Given the description of an element on the screen output the (x, y) to click on. 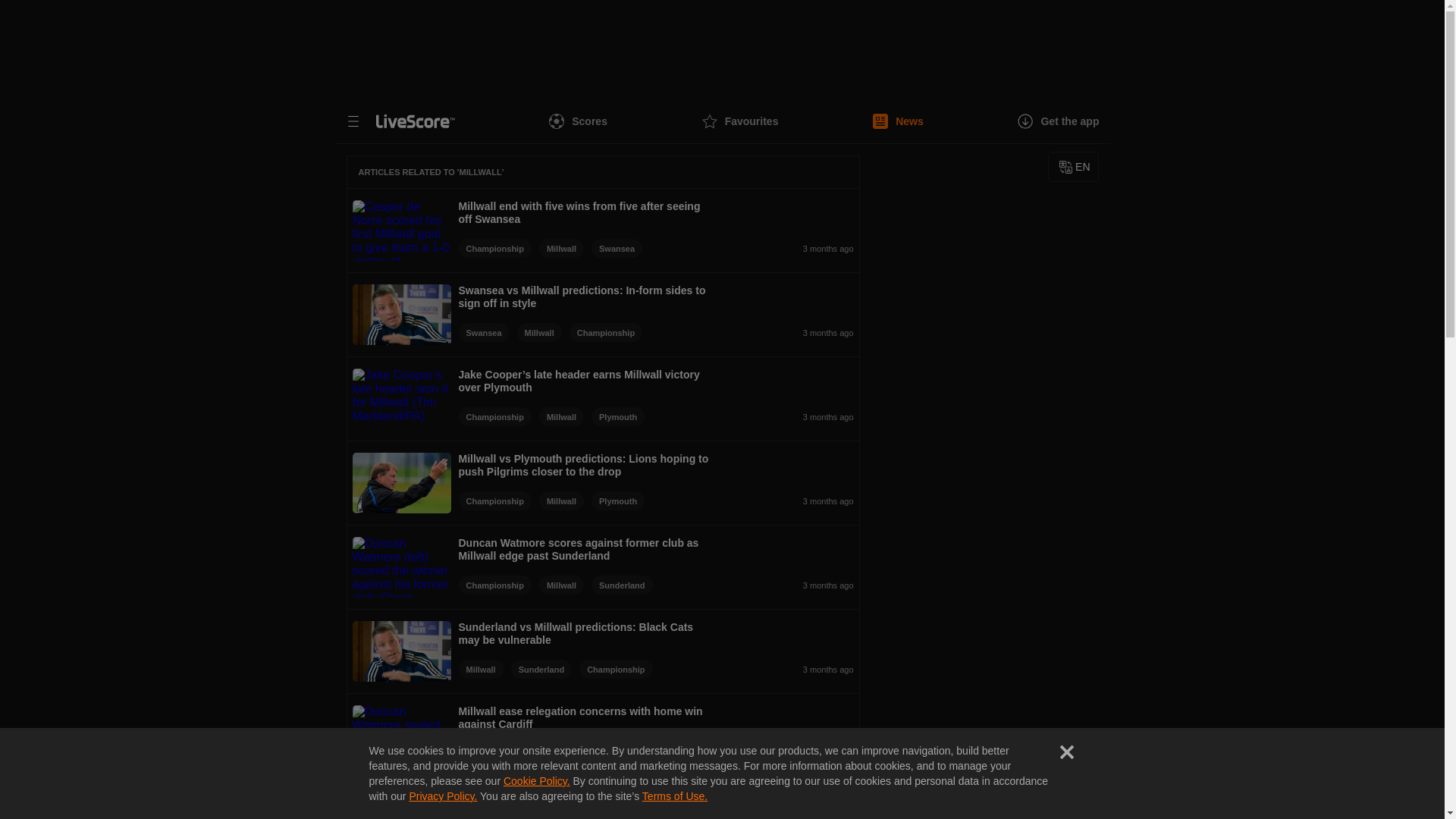
Scores (577, 120)
Championship (605, 332)
Millwall (560, 500)
3 months ago (752, 501)
Close (1066, 751)
Championship (494, 500)
Cookie Policy. (536, 780)
News (897, 120)
Championship (494, 248)
Swansea (483, 332)
Millwall (539, 332)
3 months ago (751, 248)
Favourites (739, 120)
